Given the description of an element on the screen output the (x, y) to click on. 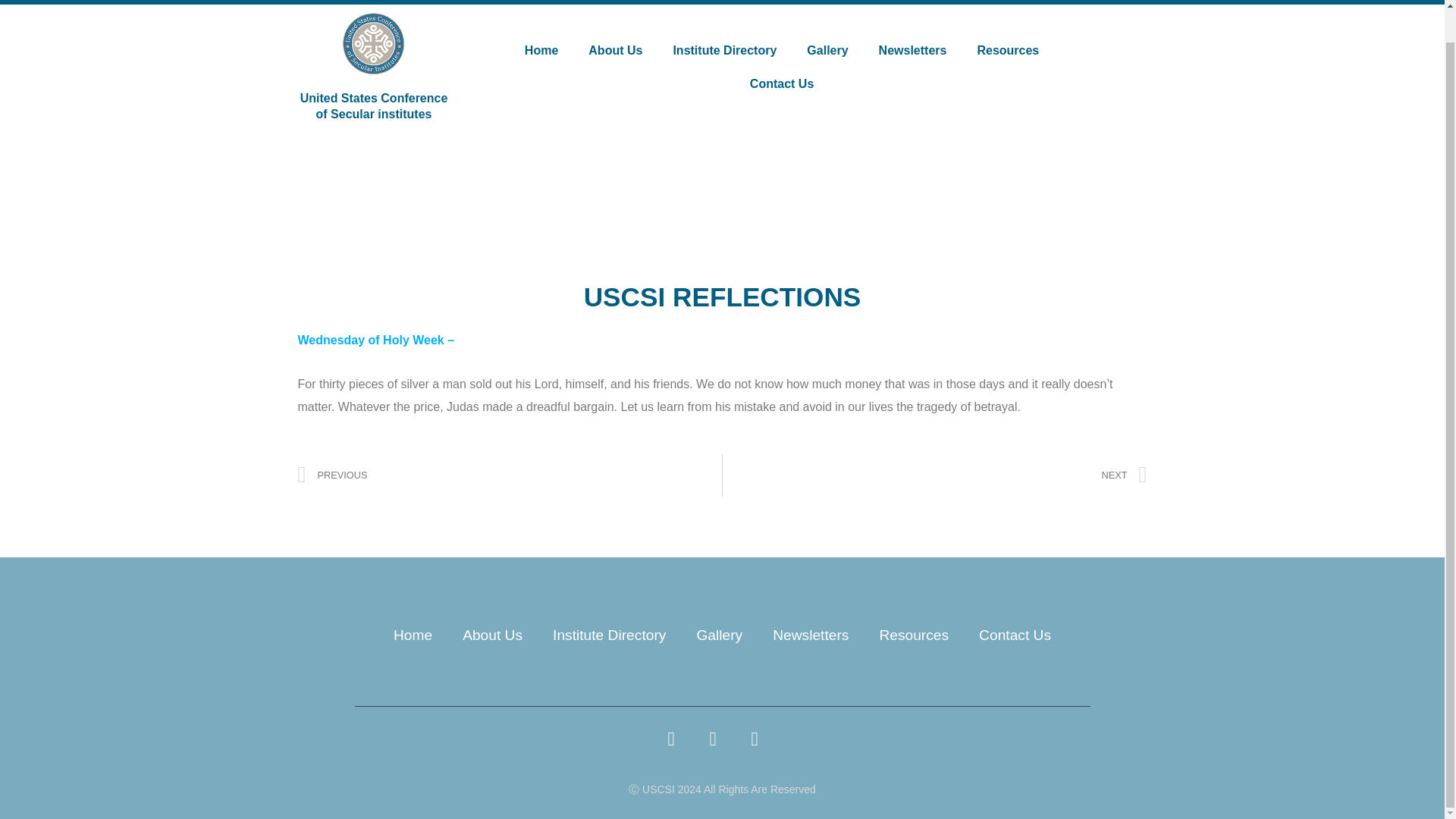
Newsletters (912, 50)
Gallery (719, 635)
Institute Directory (725, 50)
About Us (491, 635)
Home (934, 475)
Institute Directory (541, 50)
Facebook (609, 635)
Gallery (679, 748)
Resources (827, 50)
